Given the description of an element on the screen output the (x, y) to click on. 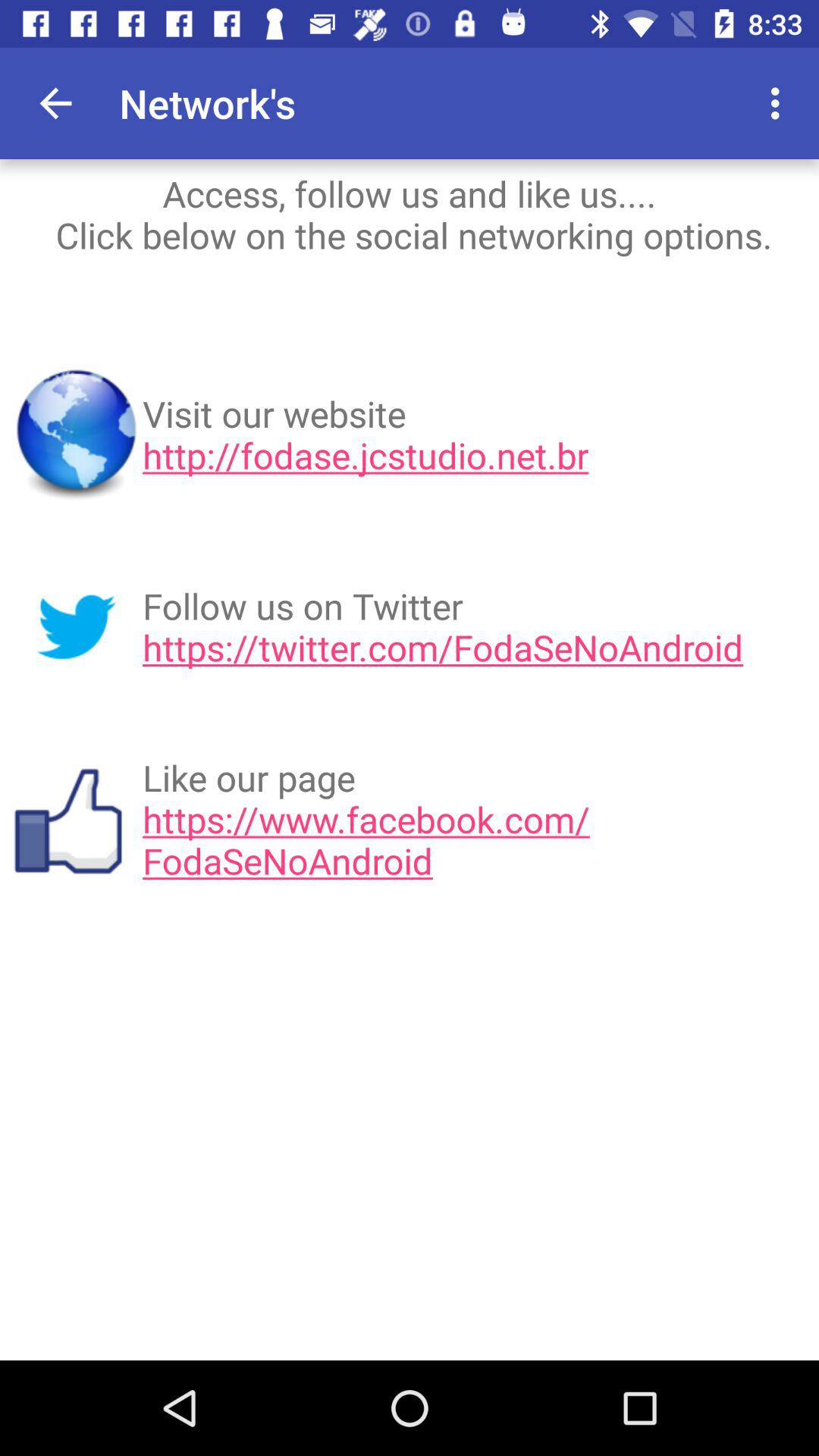
flip until like our page item (475, 819)
